Given the description of an element on the screen output the (x, y) to click on. 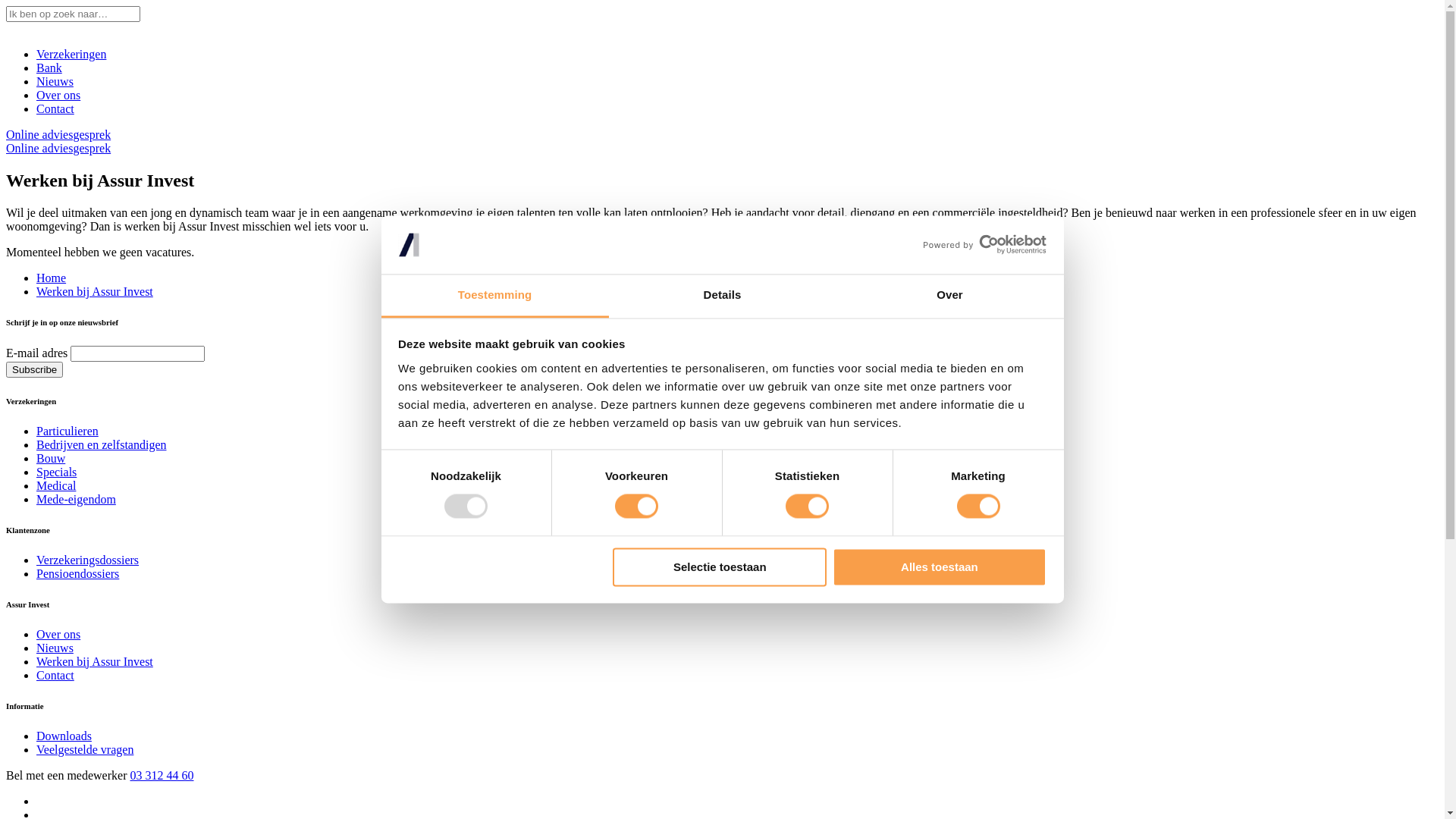
Search Element type: text (21, 7)
Pensioendossiers Element type: text (77, 573)
Veelgestelde vragen Element type: text (84, 749)
Online adviesgesprek Element type: text (58, 134)
Assure Invest Element type: hover (6, 27)
Particulieren Element type: text (67, 430)
Bouw Element type: text (50, 457)
Werken bij Assur Invest Element type: text (94, 291)
Subscribe Element type: text (34, 369)
Nieuws Element type: text (54, 81)
Bank Element type: text (49, 67)
Home Element type: text (50, 277)
Over ons Element type: text (58, 633)
Medical Element type: text (55, 485)
Details Element type: text (721, 295)
Werken bij Assur Invest Element type: text (94, 661)
Alles toestaan Element type: text (939, 566)
03 312 44 60 Element type: text (161, 774)
Contact Element type: text (55, 108)
Verzekeringen Element type: text (71, 53)
Downloads Element type: text (63, 735)
Over Element type: text (949, 295)
Mede-eigendom Element type: text (76, 498)
Verzekeringsdossiers Element type: text (87, 559)
Toestemming Element type: text (494, 295)
Specials Element type: text (56, 471)
Bedrijven en zelfstandigen Element type: text (101, 444)
Contact Element type: text (55, 674)
Nieuws Element type: text (54, 647)
Over ons Element type: text (58, 94)
Selectie toestaan Element type: text (719, 566)
Online adviesgesprek Element type: text (58, 147)
